Given the description of an element on the screen output the (x, y) to click on. 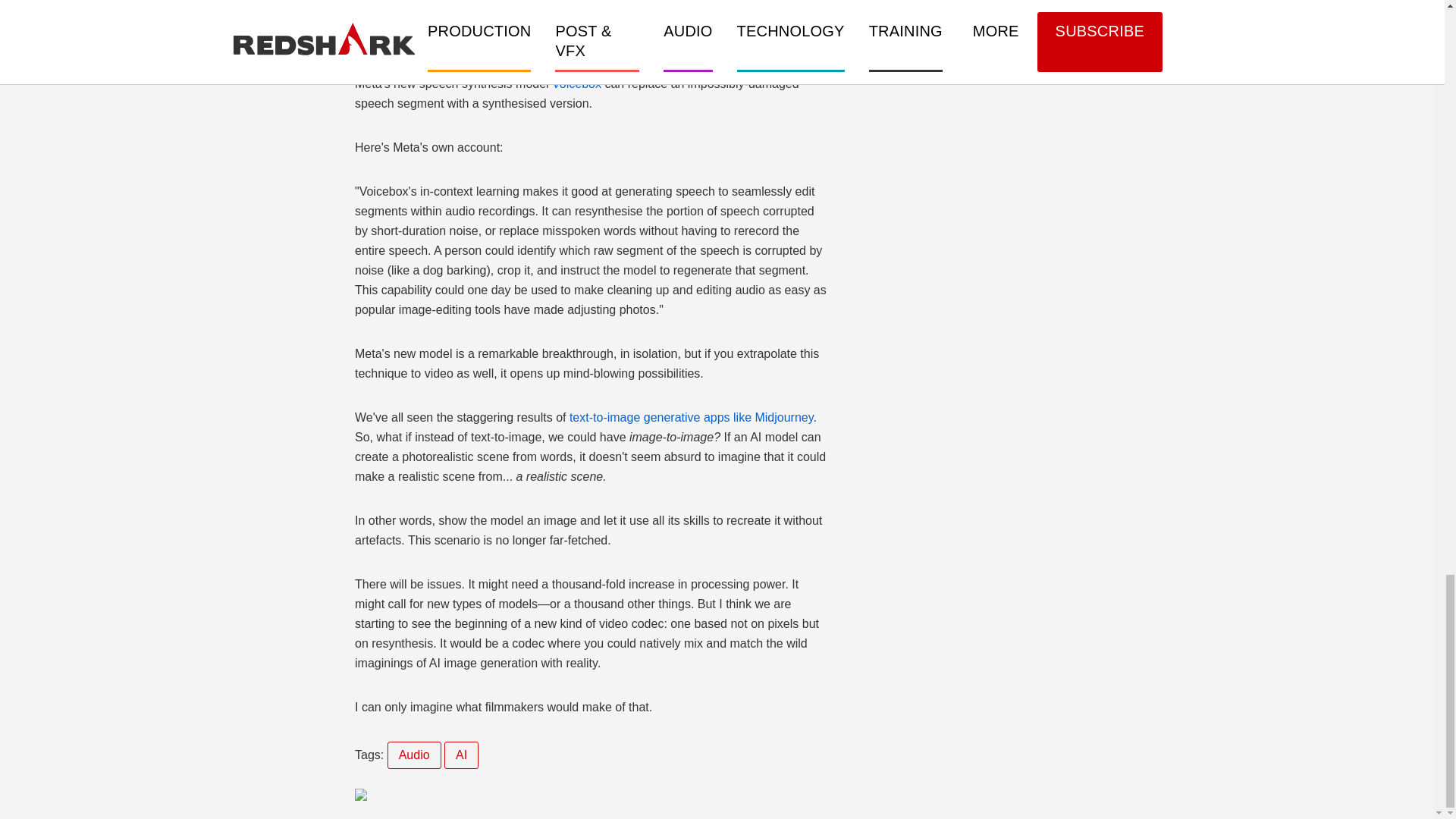
Voicebox (576, 83)
text-to-image generative apps like Midjourney (689, 417)
AI (461, 755)
Audio (414, 755)
